Given the description of an element on the screen output the (x, y) to click on. 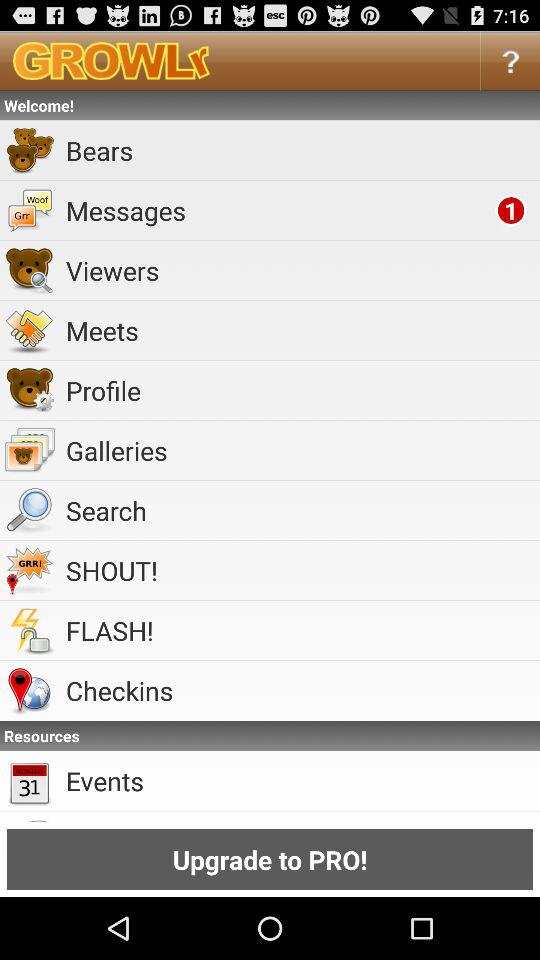
select icon below the welcome! app (299, 150)
